Given the description of an element on the screen output the (x, y) to click on. 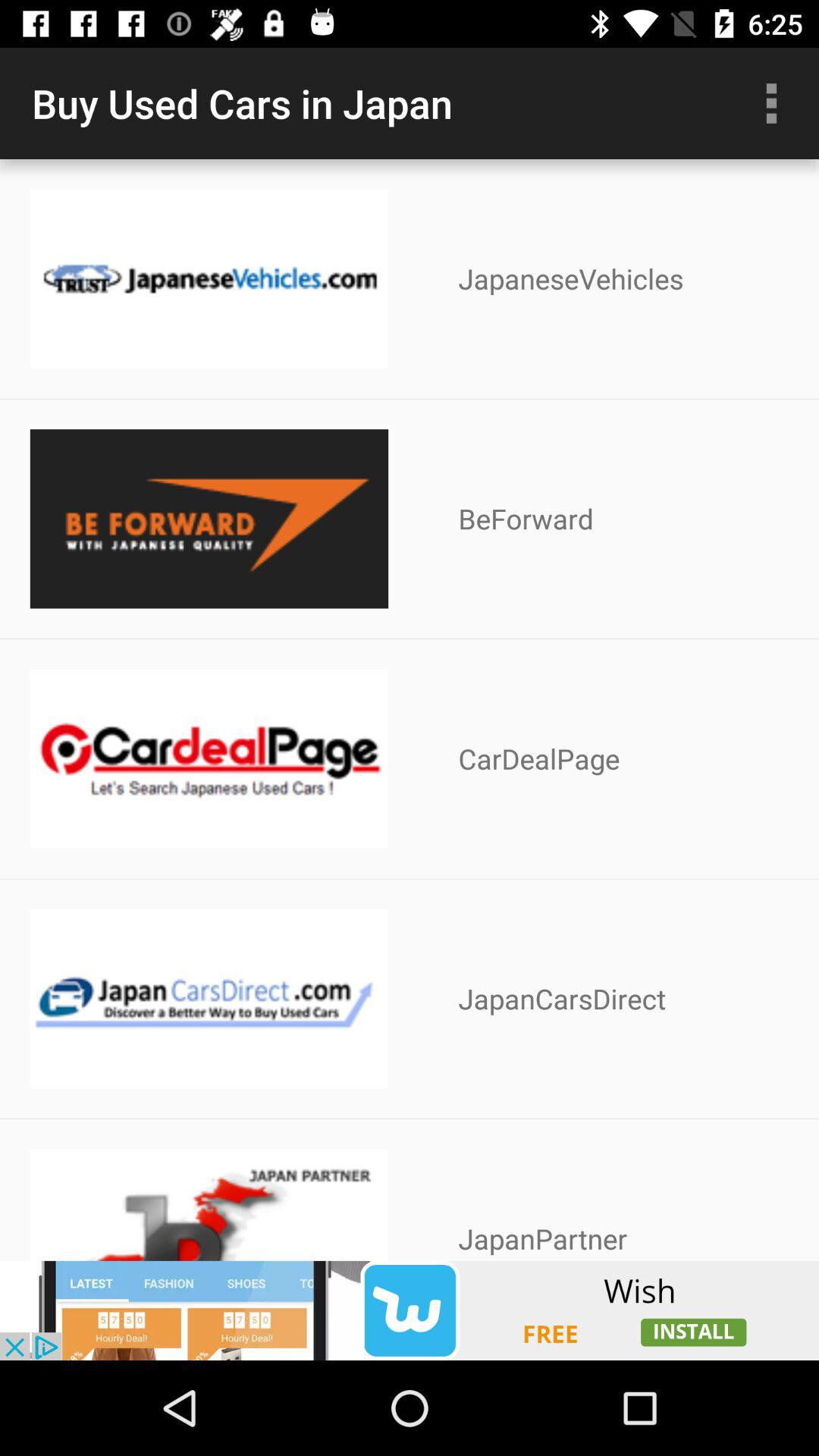
advertisement (409, 1310)
